Given the description of an element on the screen output the (x, y) to click on. 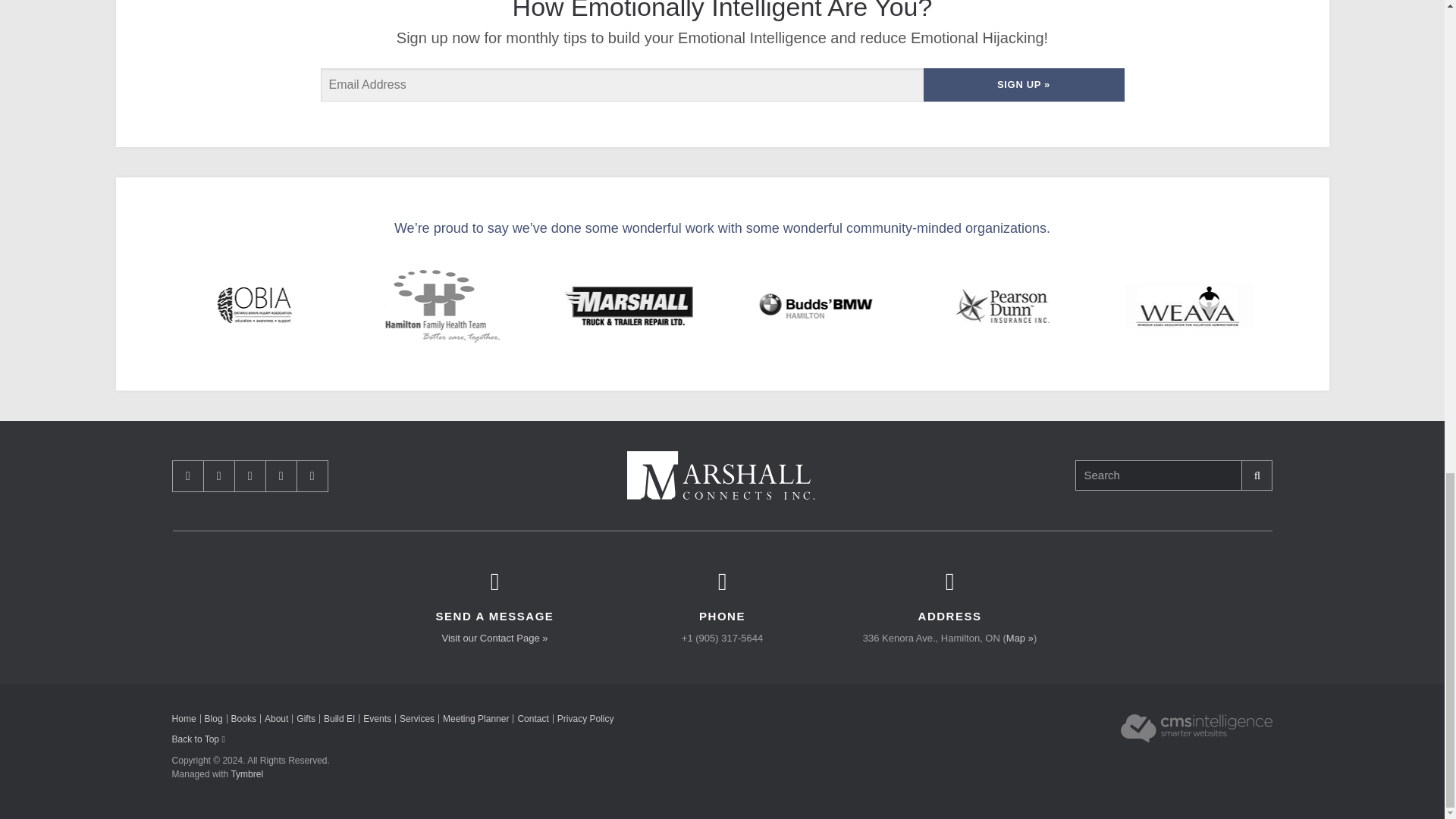
Search (1158, 475)
